Given the description of an element on the screen output the (x, y) to click on. 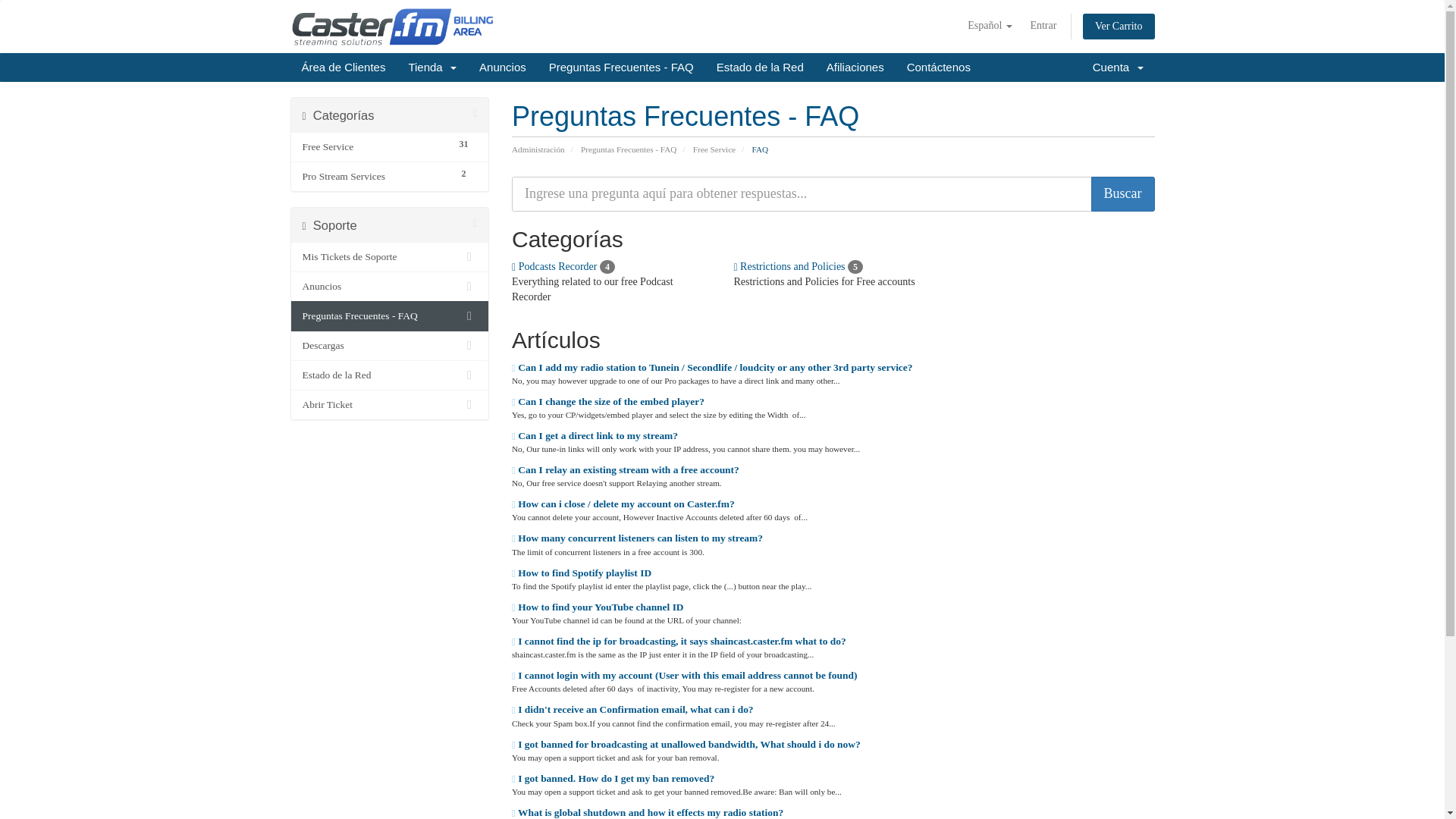
Buscar (1122, 193)
Entrar (1043, 25)
Anuncios (502, 67)
Free Service (375, 147)
Ver Carrito (1118, 26)
Tienda   (431, 67)
Pro Stream Services (375, 176)
